Given the description of an element on the screen output the (x, y) to click on. 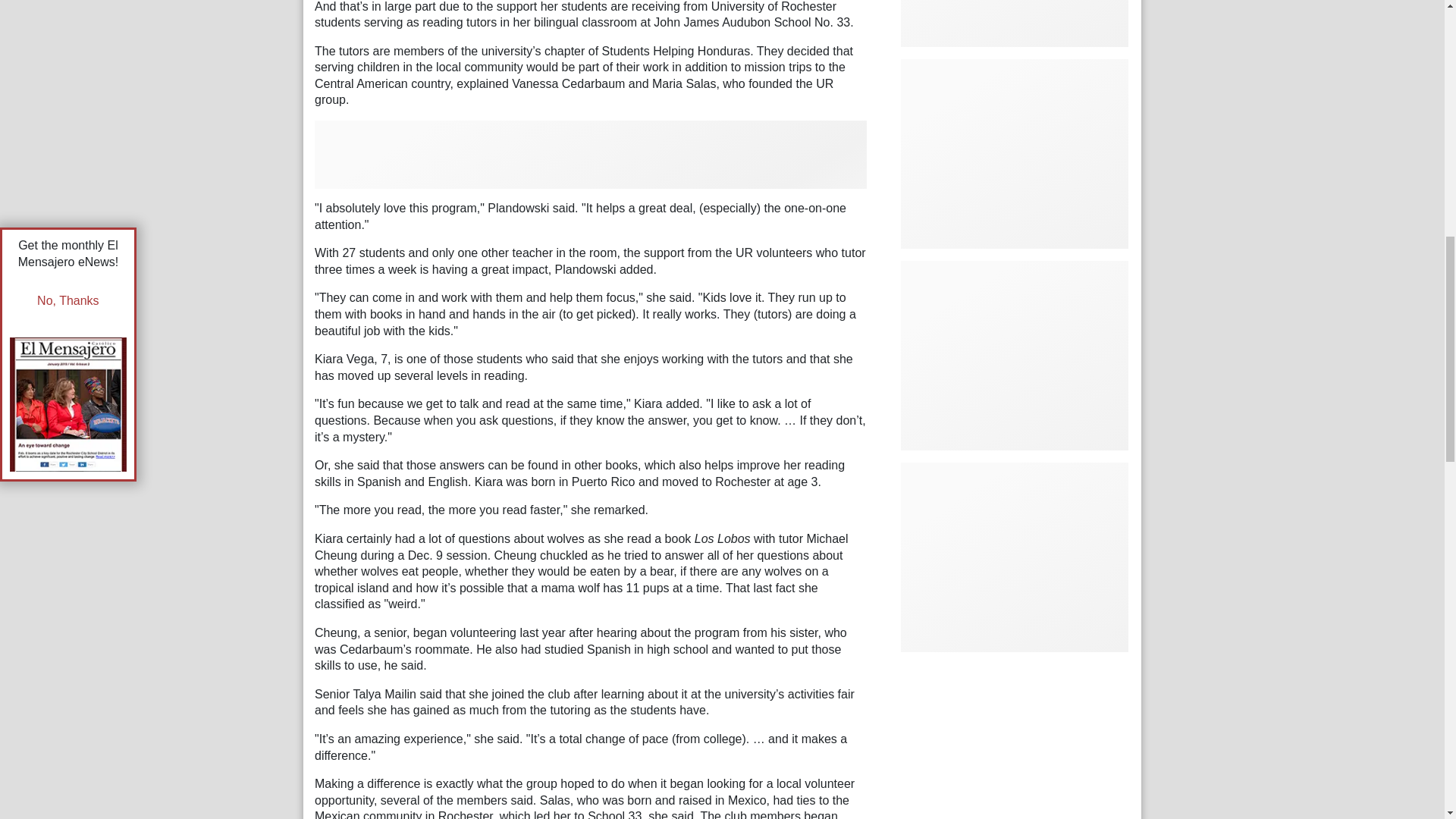
3rd party ad content (1014, 556)
